Given the description of an element on the screen output the (x, y) to click on. 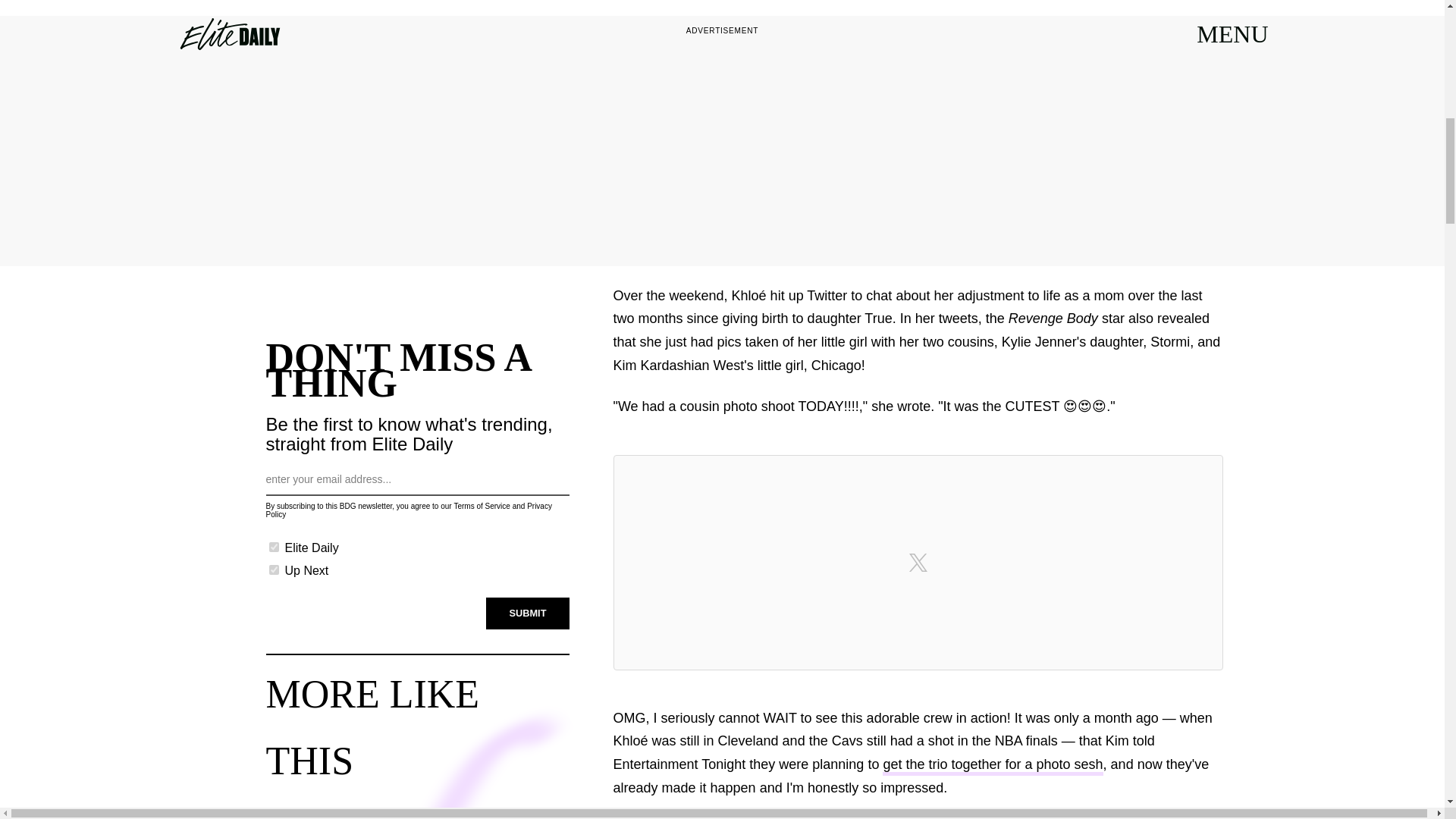
Privacy Policy (407, 510)
get the trio together for a photo sesh (992, 765)
SUBMIT (527, 613)
Terms of Service (480, 506)
